Given the description of an element on the screen output the (x, y) to click on. 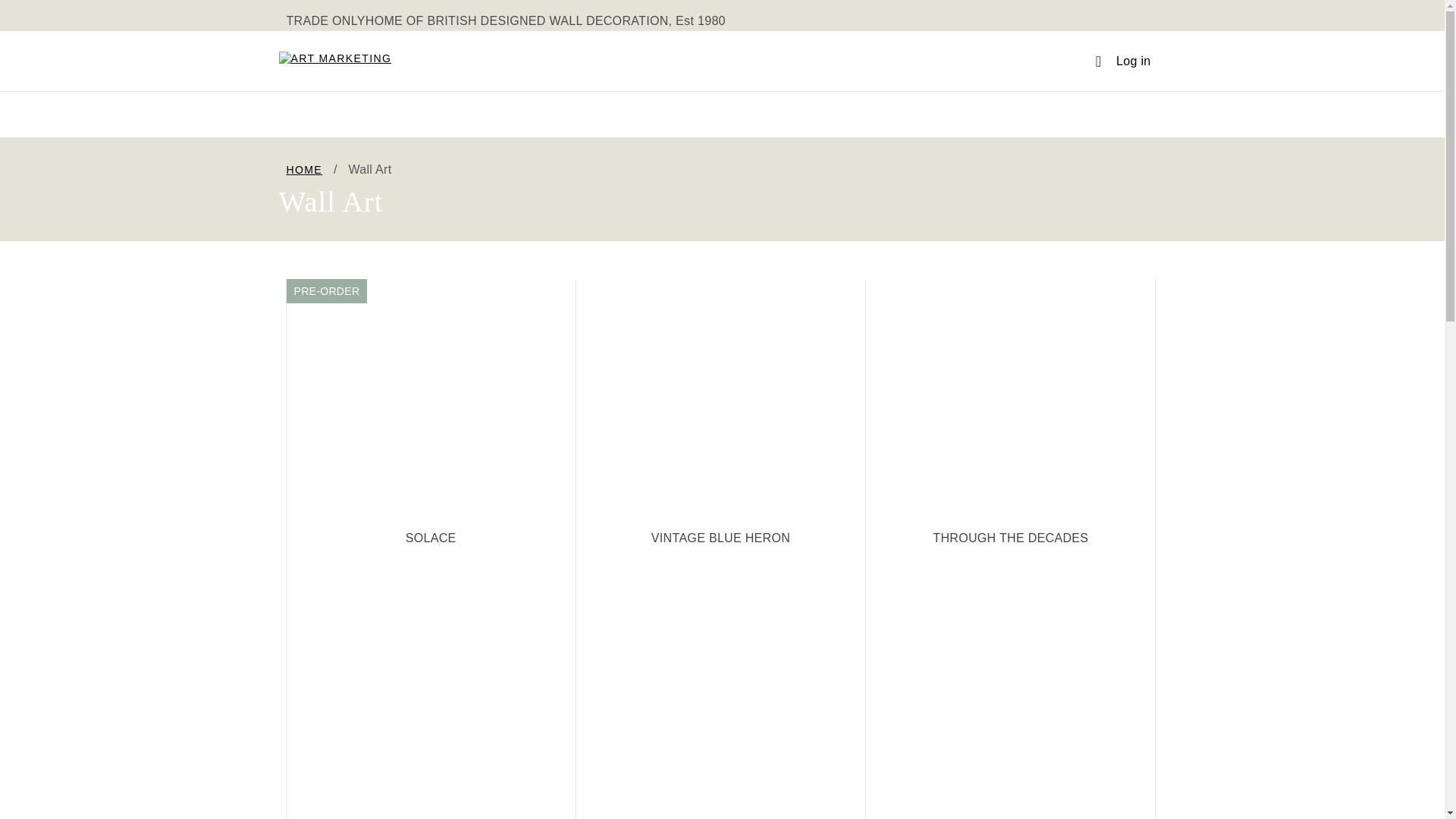
NEPTUNE BAY (720, 694)
THROUGH THE DECADES (1010, 413)
VINTAGE BLUE HERON (720, 413)
HOME (304, 169)
Home Page (335, 60)
Log in (430, 413)
HARTLEY AND ANGUS - SET OF 2 (1123, 60)
SHADY OAKS PASTURE (430, 694)
